Given the description of an element on the screen output the (x, y) to click on. 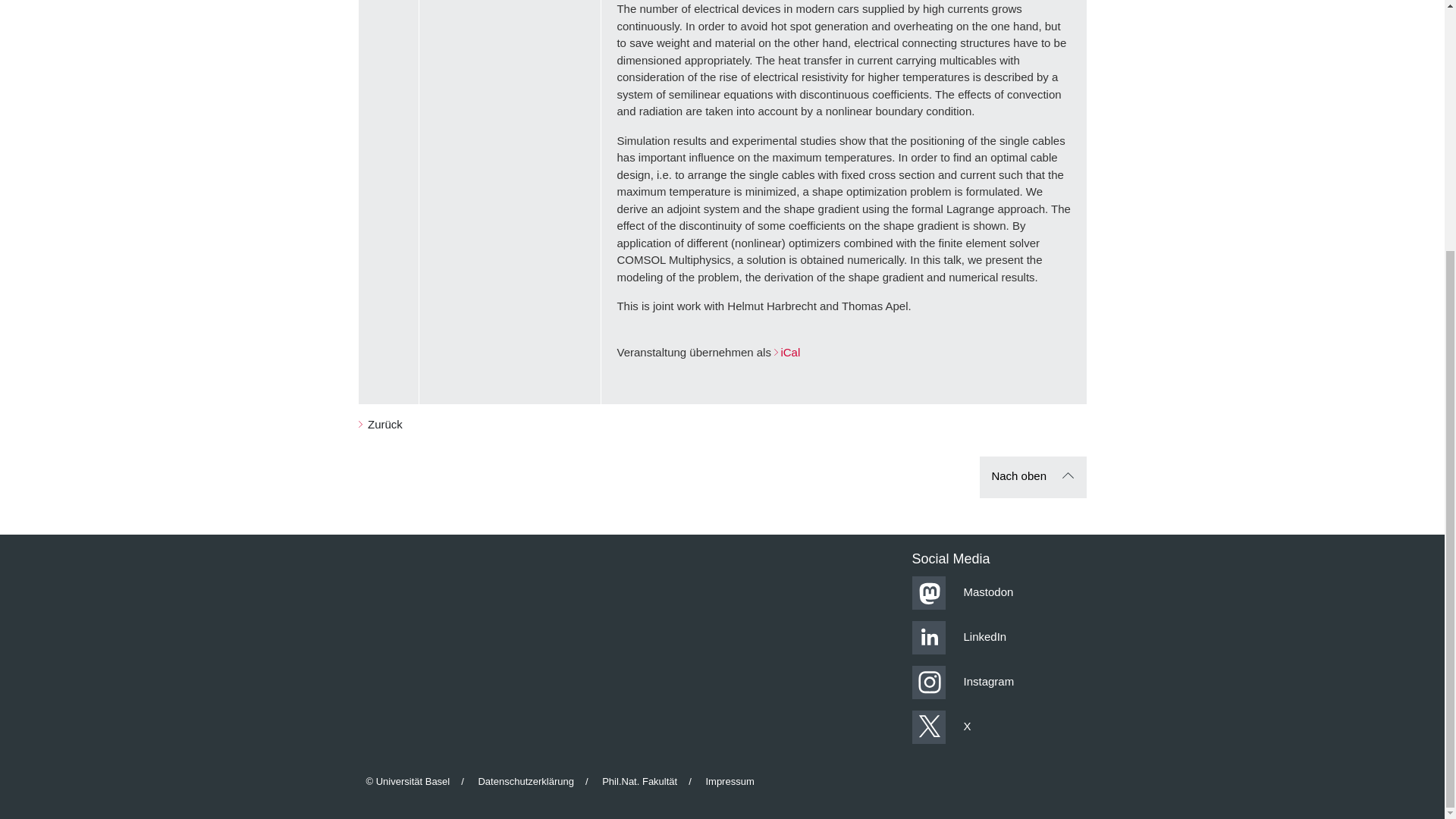
X (995, 726)
LinkedIn (958, 635)
LinkedIn (995, 637)
X (941, 725)
Instagram (962, 680)
Nach oben (1032, 476)
Mastodon (995, 592)
iCal (786, 351)
Mastodon (962, 591)
Impressum (729, 781)
